Given the description of an element on the screen output the (x, y) to click on. 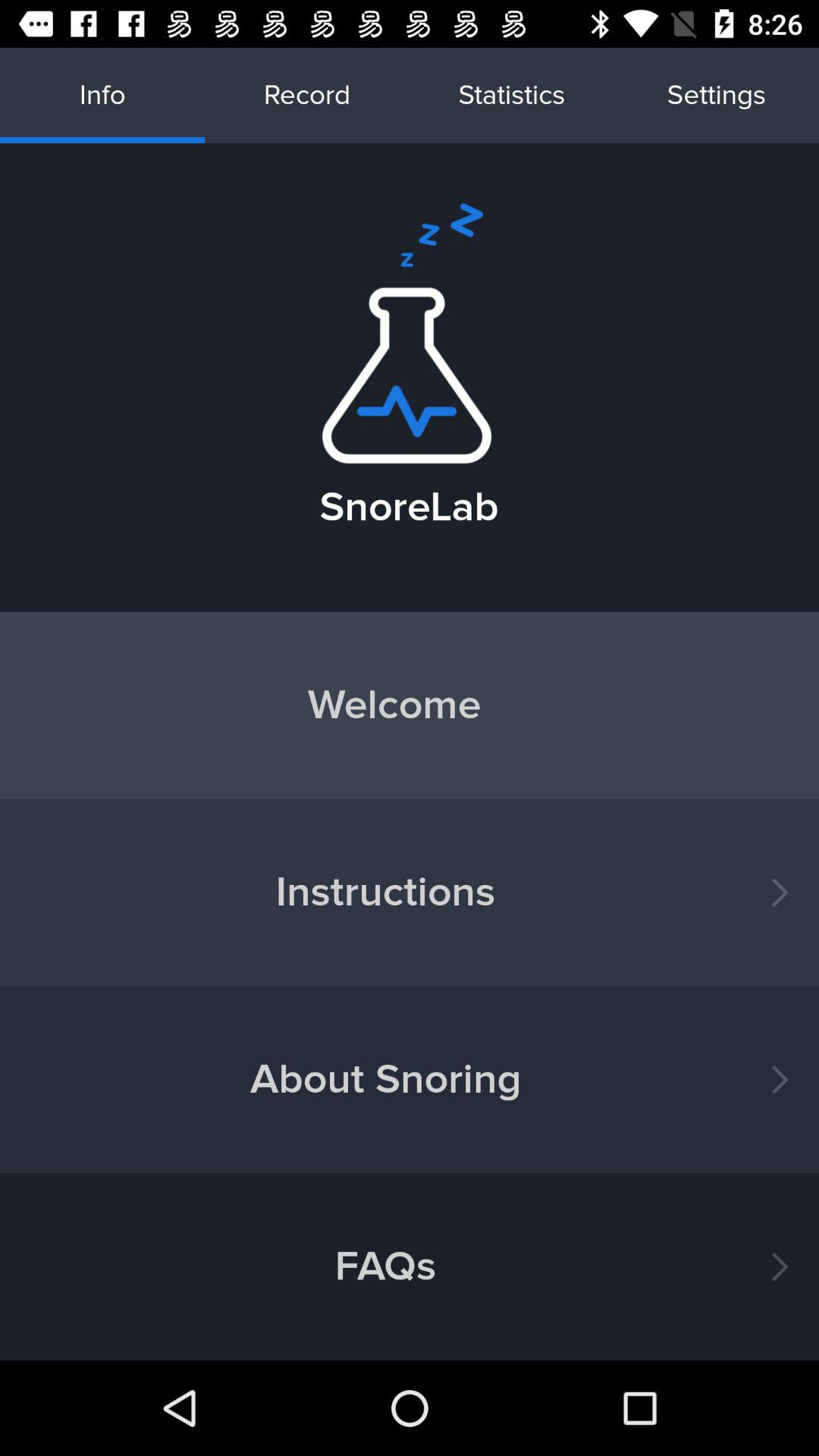
scroll to about snoring (409, 1079)
